Given the description of an element on the screen output the (x, y) to click on. 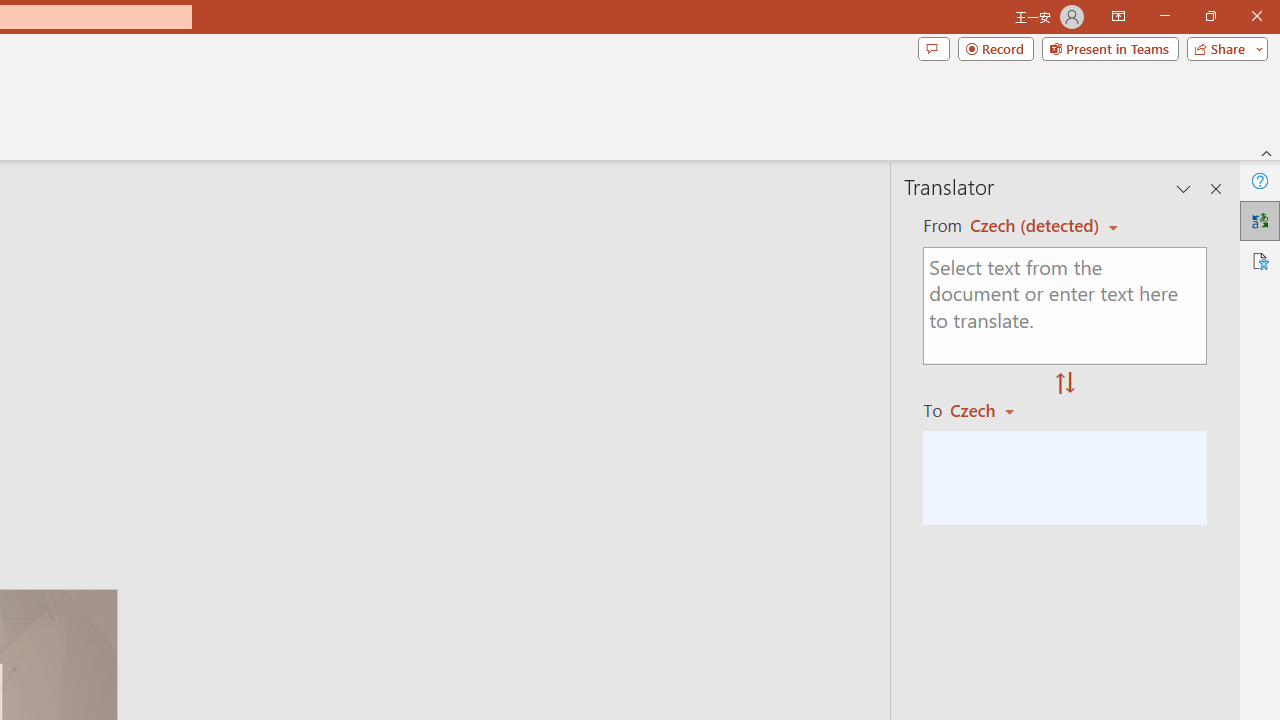
Czech (detected) (1037, 225)
Czech (991, 409)
